Given the description of an element on the screen output the (x, y) to click on. 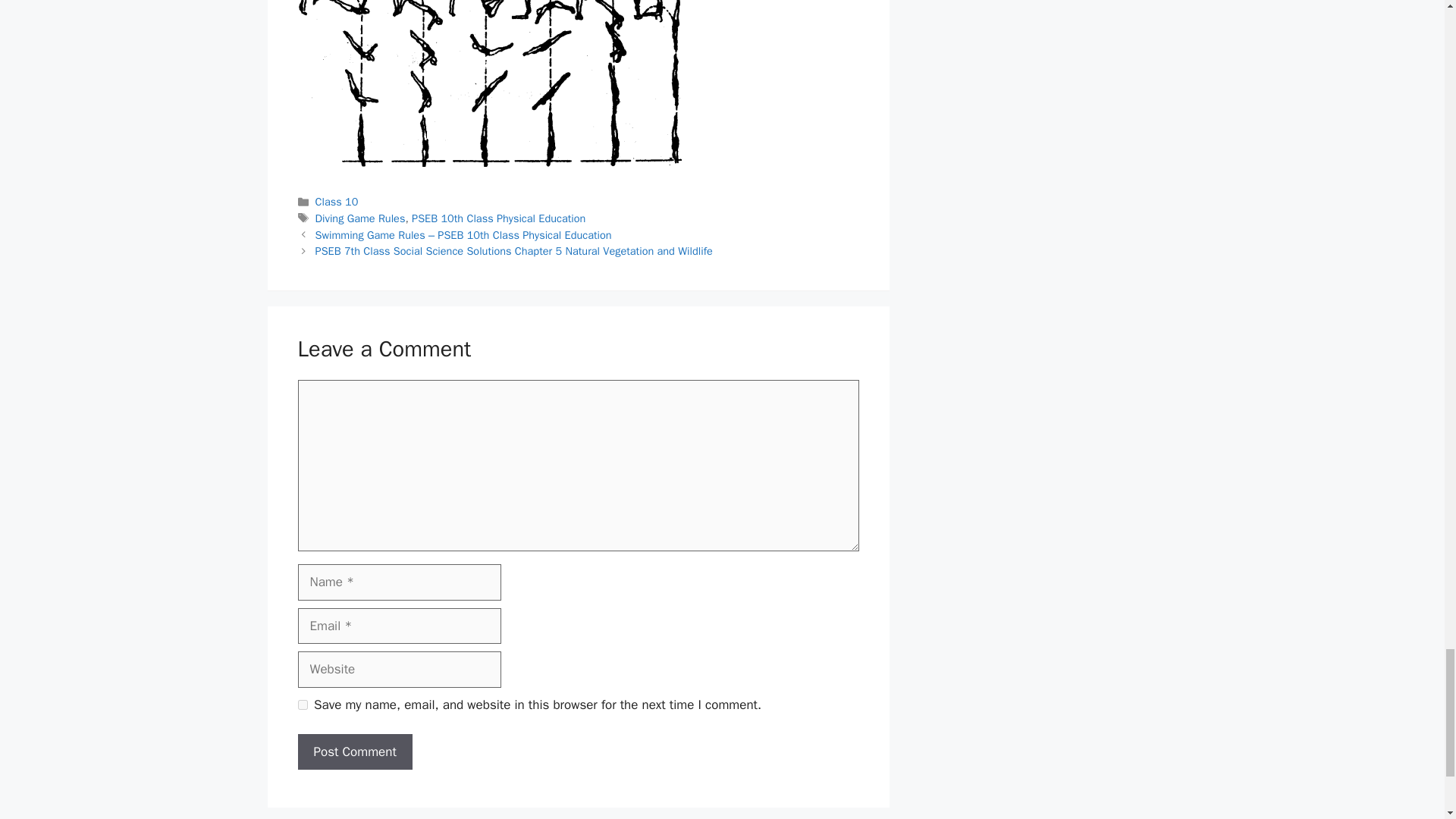
Post Comment (354, 751)
PSEB 10th Class Physical Education (498, 218)
Post Comment (354, 751)
Class 10 (336, 201)
Previous (463, 234)
Diving Game Rules (360, 218)
yes (302, 705)
